Given the description of an element on the screen output the (x, y) to click on. 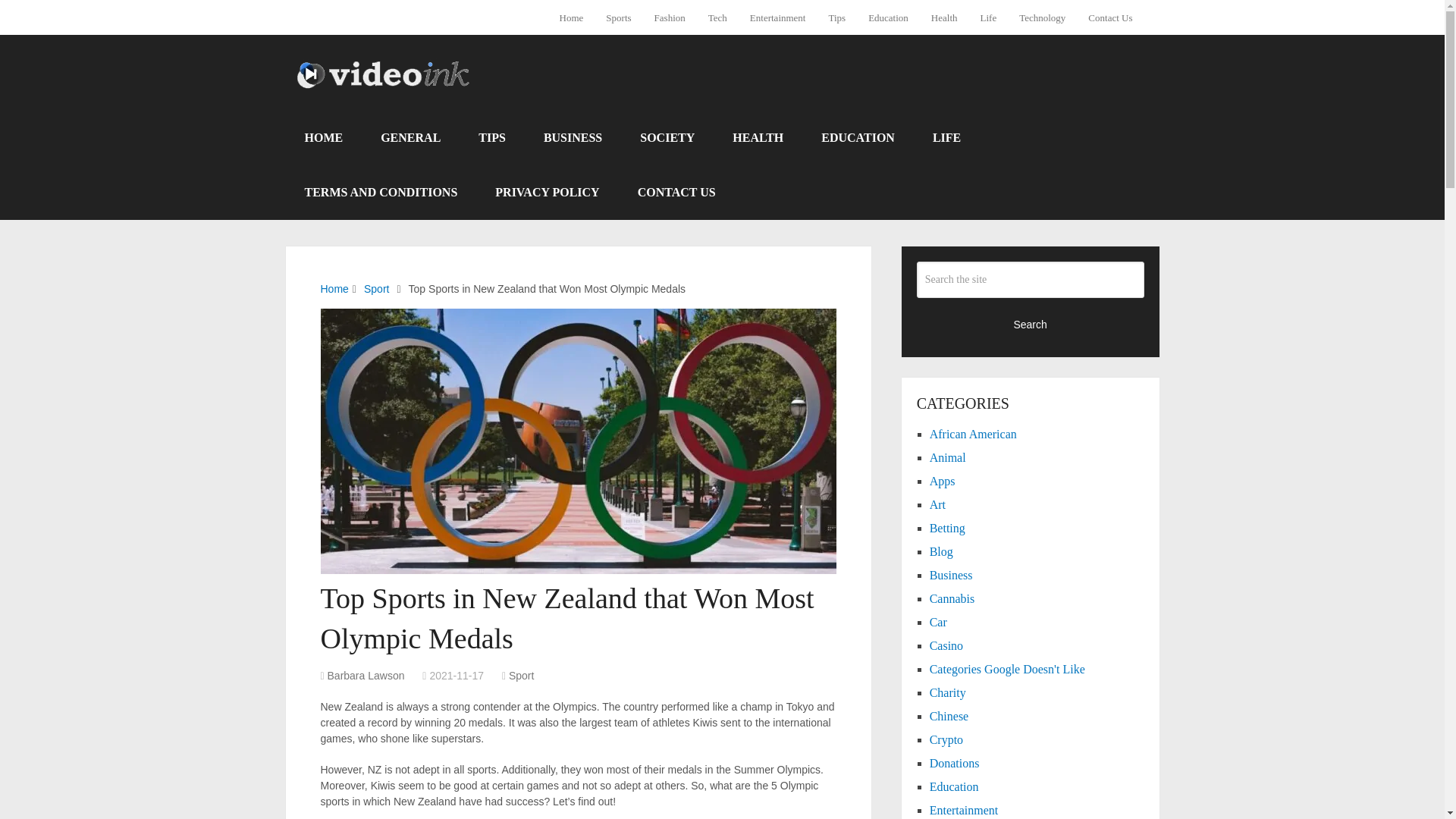
Barbara Lawson (365, 675)
Sport (521, 675)
HEALTH (757, 137)
Sport (376, 288)
Technology (1042, 17)
Life (989, 17)
Entertainment (777, 17)
LIFE (946, 137)
Tech (717, 17)
TIPS (492, 137)
